Given the description of an element on the screen output the (x, y) to click on. 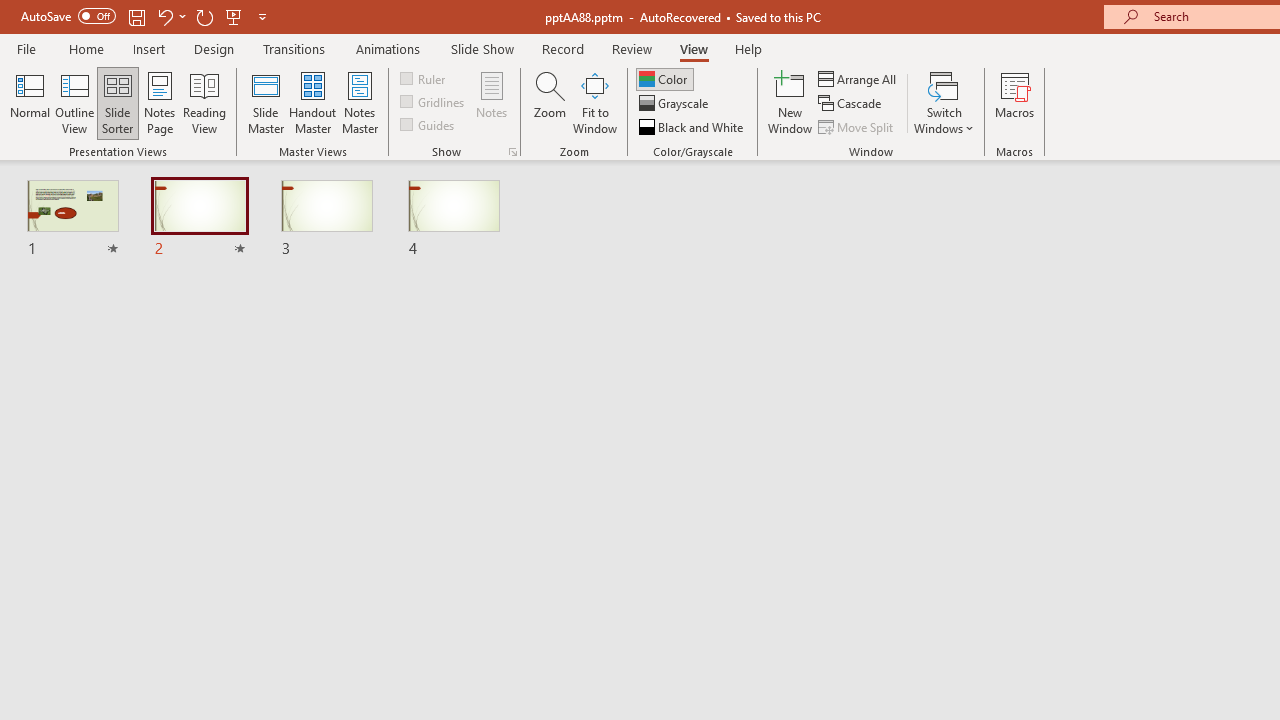
Notes Page (159, 102)
Slide Master (265, 102)
Arrange All (858, 78)
Zoom... (549, 102)
Fit to Window (594, 102)
